Given the description of an element on the screen output the (x, y) to click on. 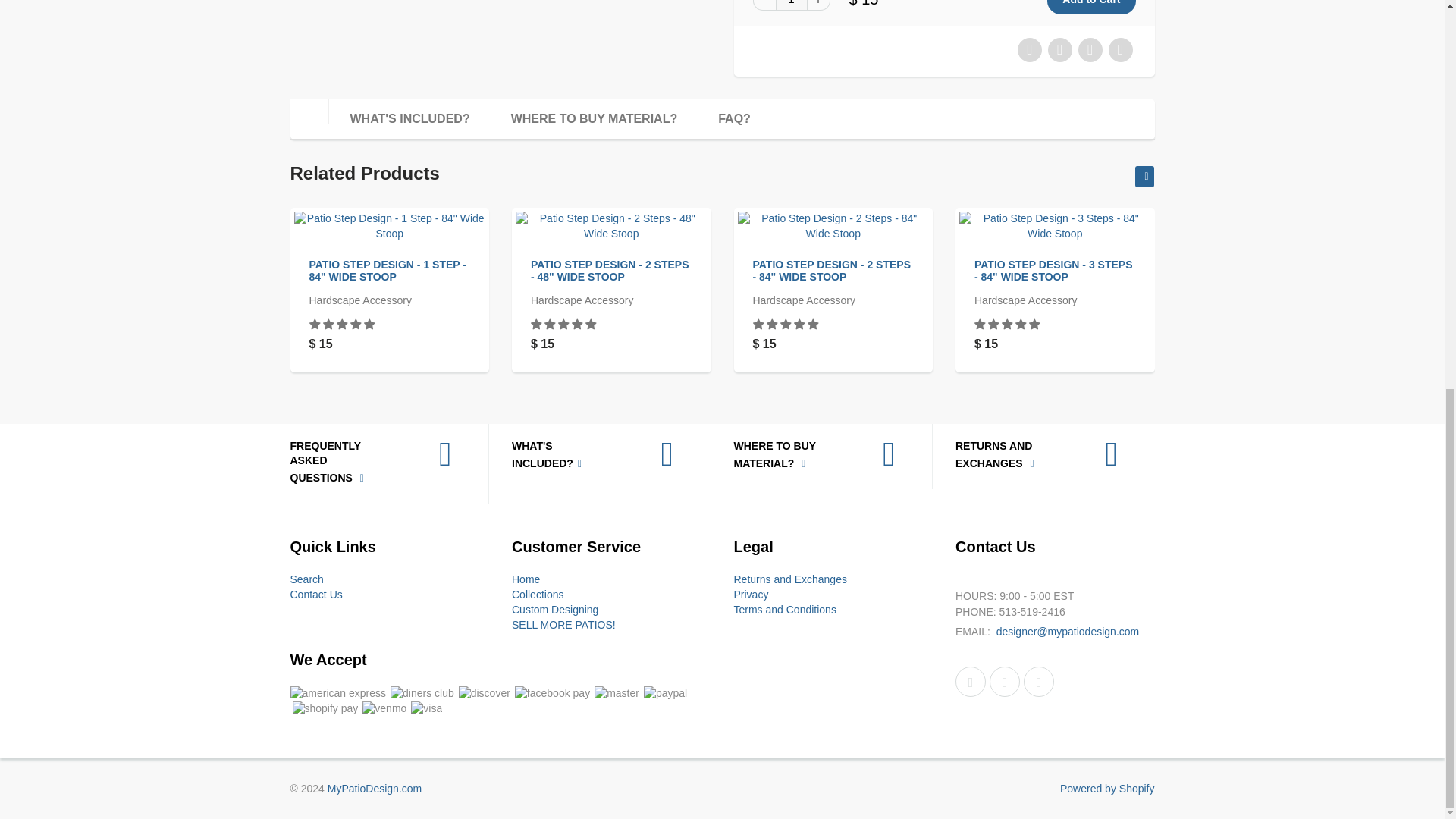
1 (790, 5)
Pinterest (1005, 681)
Facebook (970, 681)
Instagram (1038, 681)
Add to Cart (1090, 7)
